Given the description of an element on the screen output the (x, y) to click on. 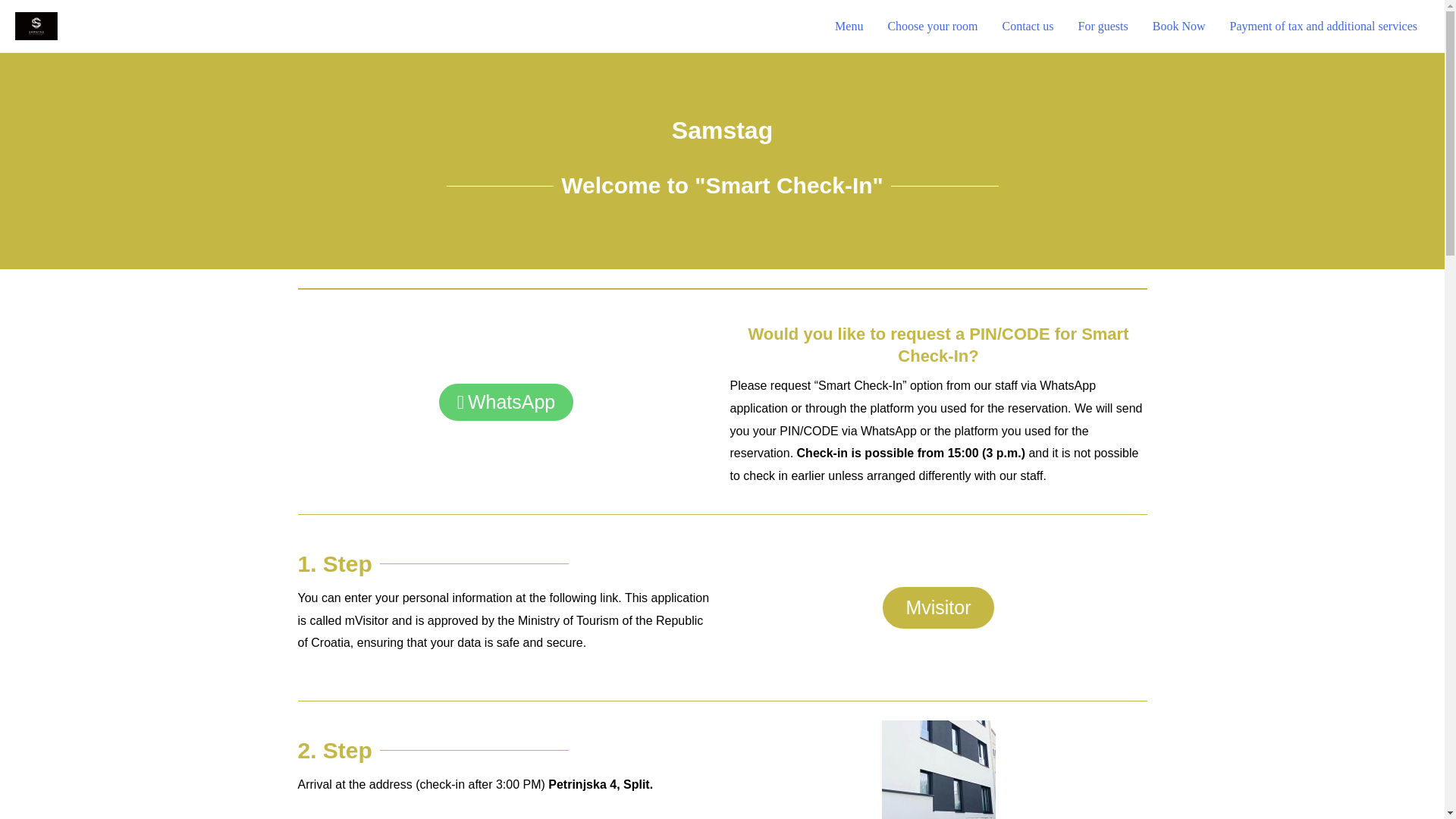
Book Now (1178, 26)
Choose your room (932, 26)
Menu (848, 26)
Mvisitor (937, 607)
WhatsApp (505, 402)
Payment of tax and additional services (1323, 26)
Contact us (1027, 26)
For guests (1102, 26)
